Given the description of an element on the screen output the (x, y) to click on. 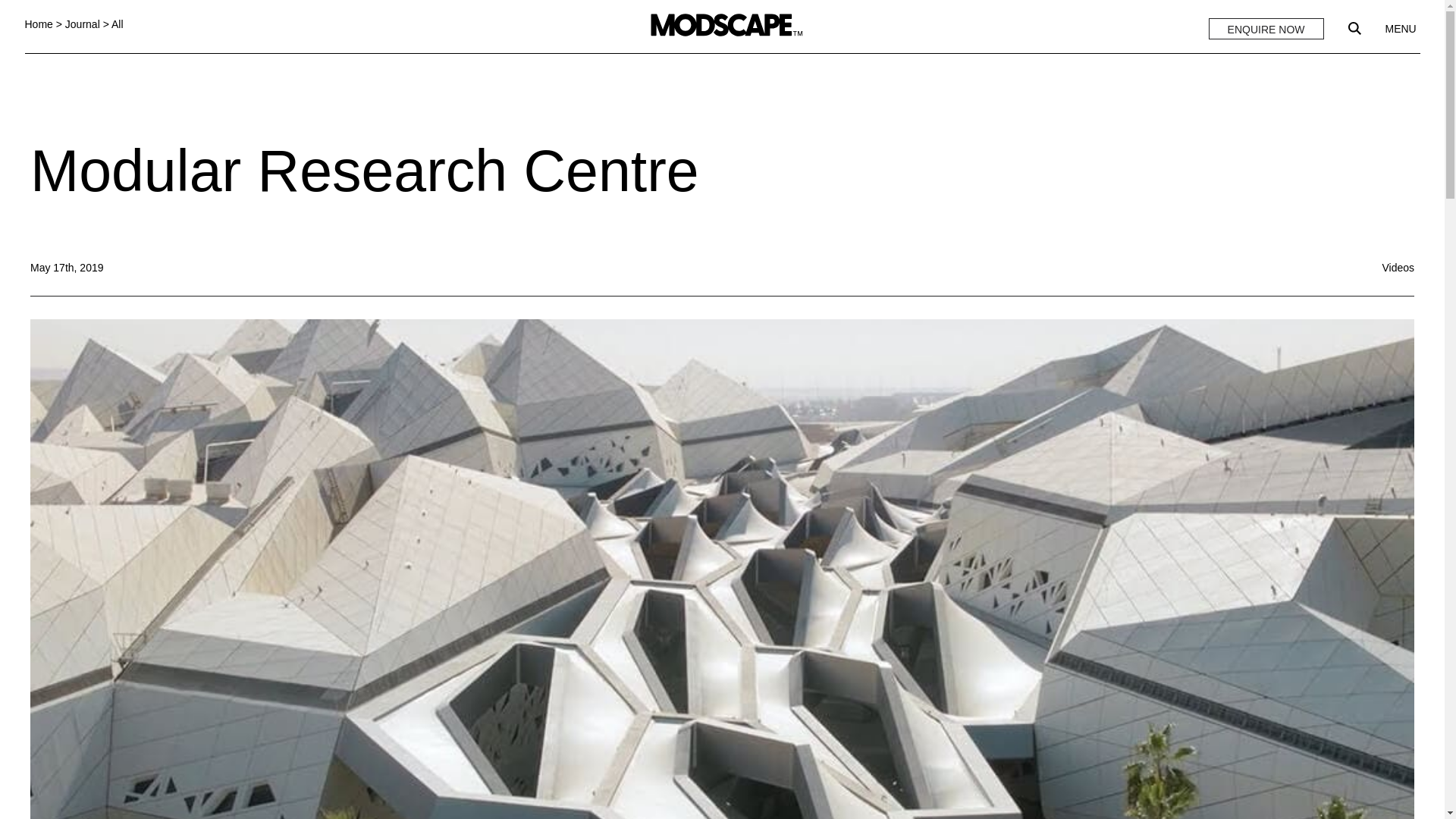
ENQUIRE NOW (1265, 28)
Journal (82, 24)
Home (38, 24)
All (117, 24)
MENU (1399, 28)
Search (1354, 29)
